Given the description of an element on the screen output the (x, y) to click on. 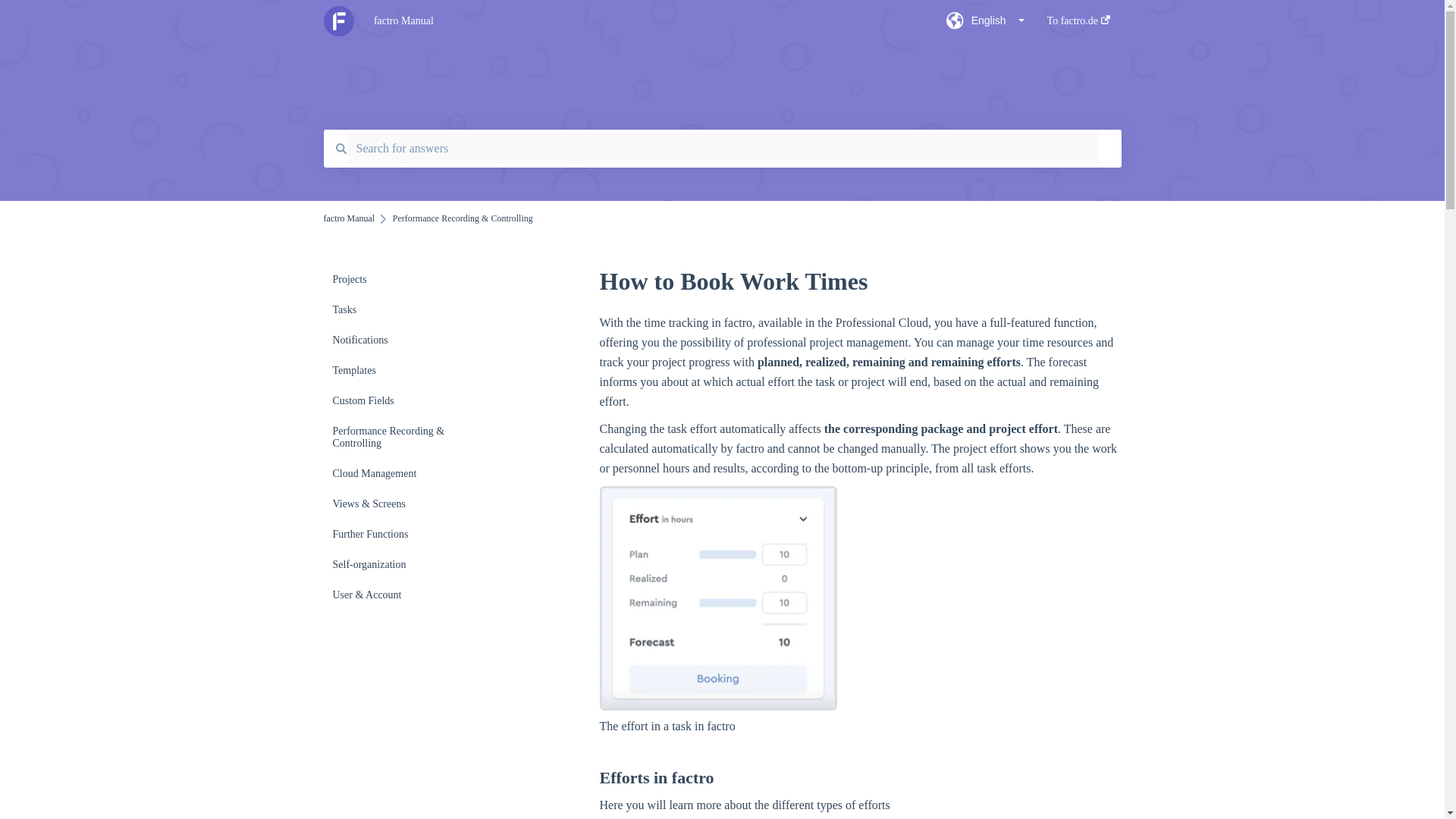
Tasks (414, 309)
Templates (414, 370)
Further Functions (414, 534)
Notifications (414, 340)
Self-organization (414, 564)
factro Manual (348, 217)
English (985, 25)
factro Manual (637, 21)
Cloud Management (414, 473)
Projects (414, 279)
To factro.de (1077, 25)
Custom Fields (414, 400)
